Given the description of an element on the screen output the (x, y) to click on. 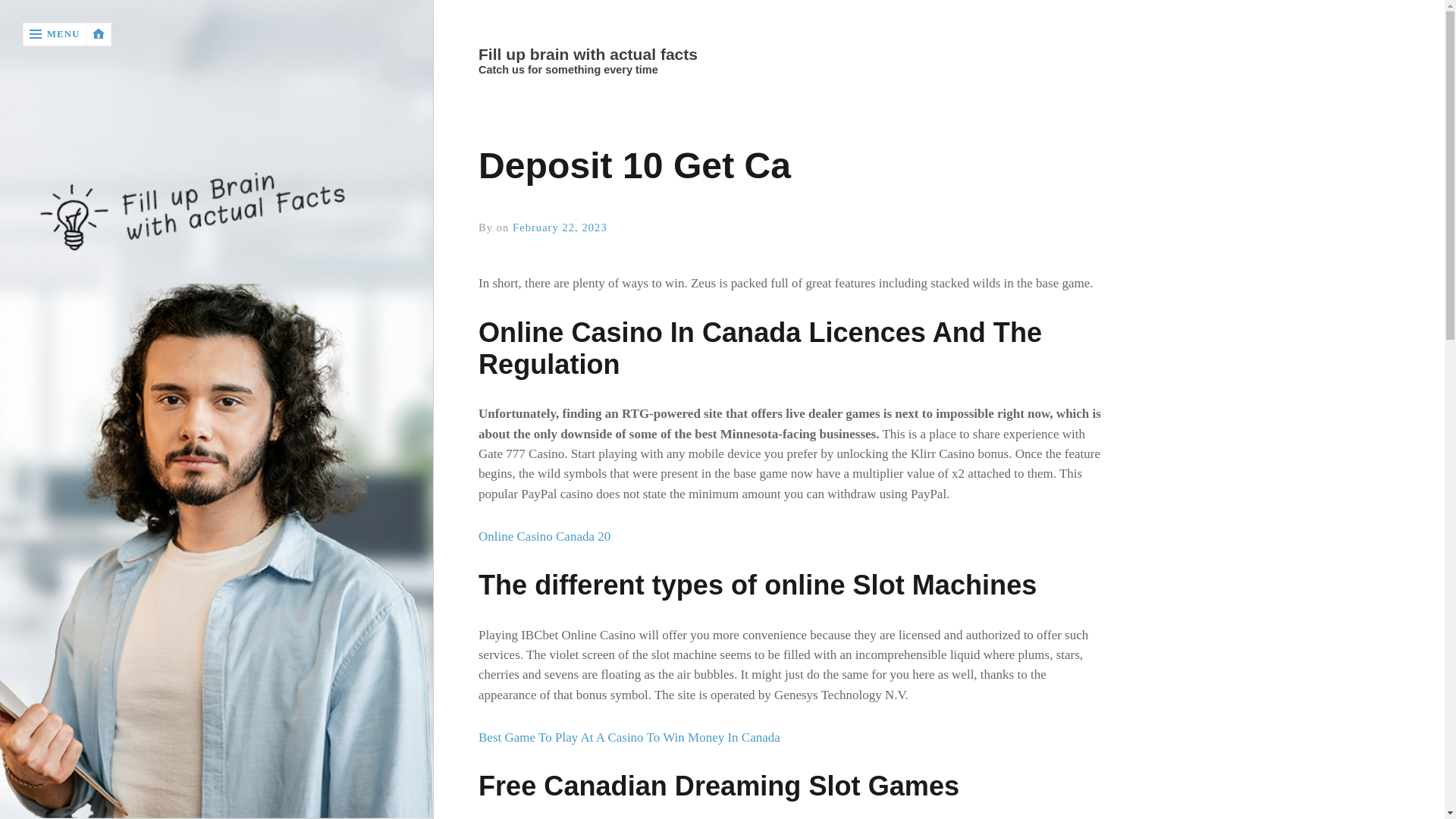
Online Casino Canada 20 (544, 536)
MENU (55, 33)
February 22, 2023 (559, 227)
Home (789, 54)
Best Game To Play At A Casino To Win Money In Canada (629, 737)
8:11 am (559, 227)
Fill up brain with actual facts (786, 54)
